Given the description of an element on the screen output the (x, y) to click on. 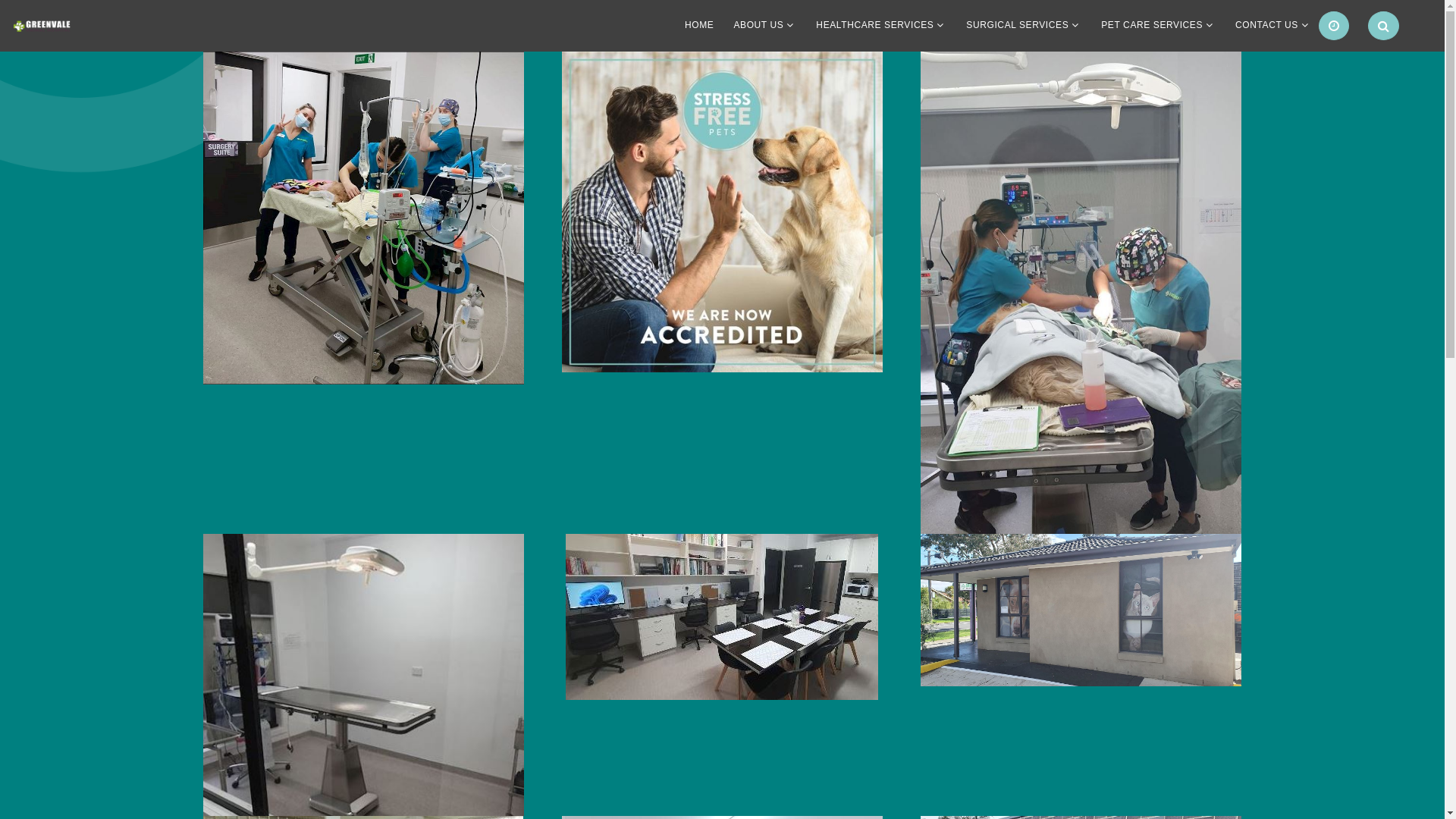
CONTACT US Element type: text (1266, 25)
ABOUT US Element type: text (758, 25)
PET CARE SERVICES Element type: text (1151, 25)
HEALTHCARE SERVICES Element type: text (874, 25)
SURGICAL SERVICES Element type: text (1017, 25)
HOME Element type: text (698, 25)
